Given the description of an element on the screen output the (x, y) to click on. 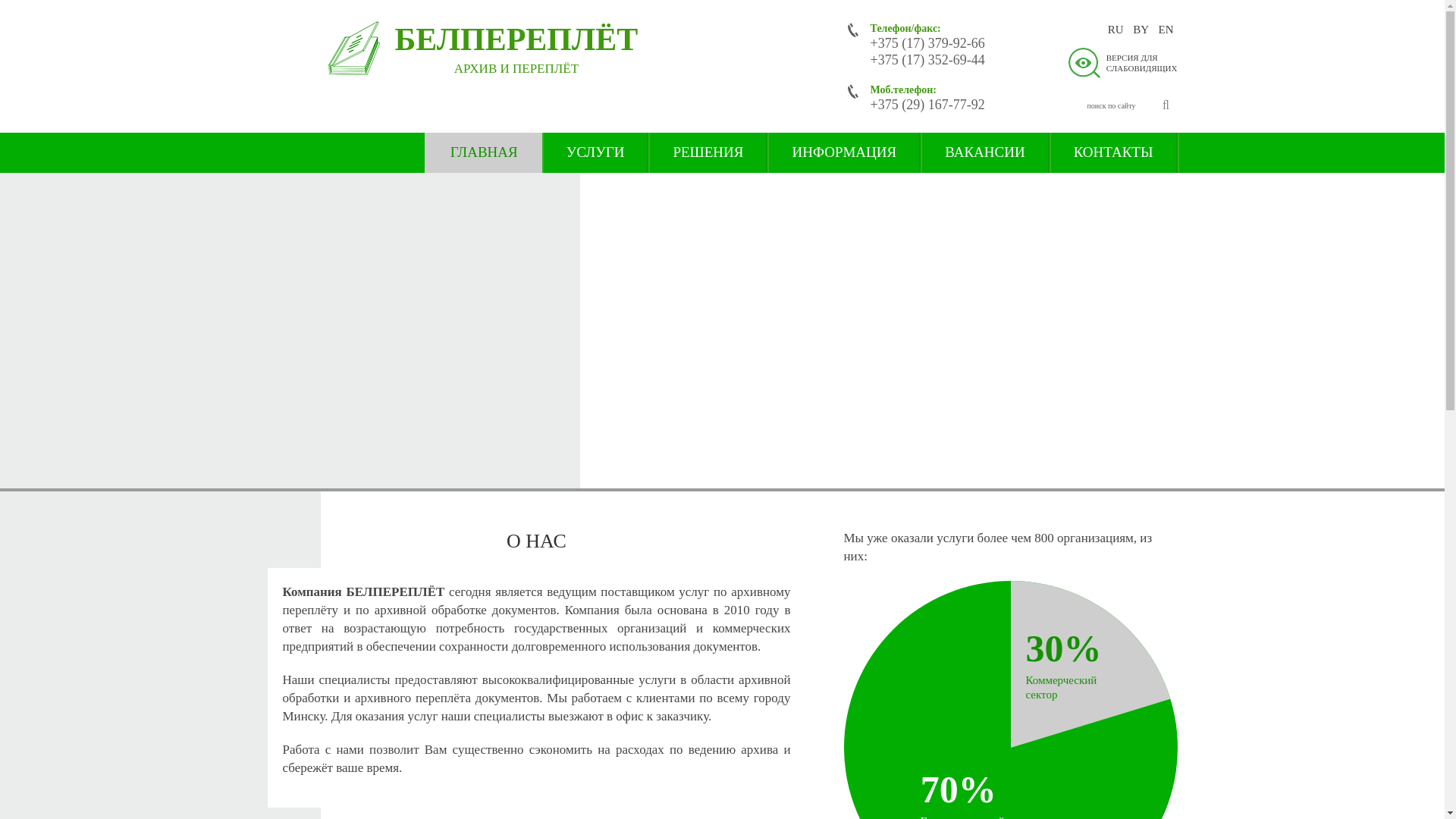
+375 (17) 379-92-66 Element type: text (927, 42)
EN Element type: text (1165, 29)
RU Element type: text (1115, 29)
BY Element type: text (1140, 29)
+375 (17) 352-69-44 Element type: text (927, 59)
+375 (29) 167-77-92 Element type: text (927, 104)
